Given the description of an element on the screen output the (x, y) to click on. 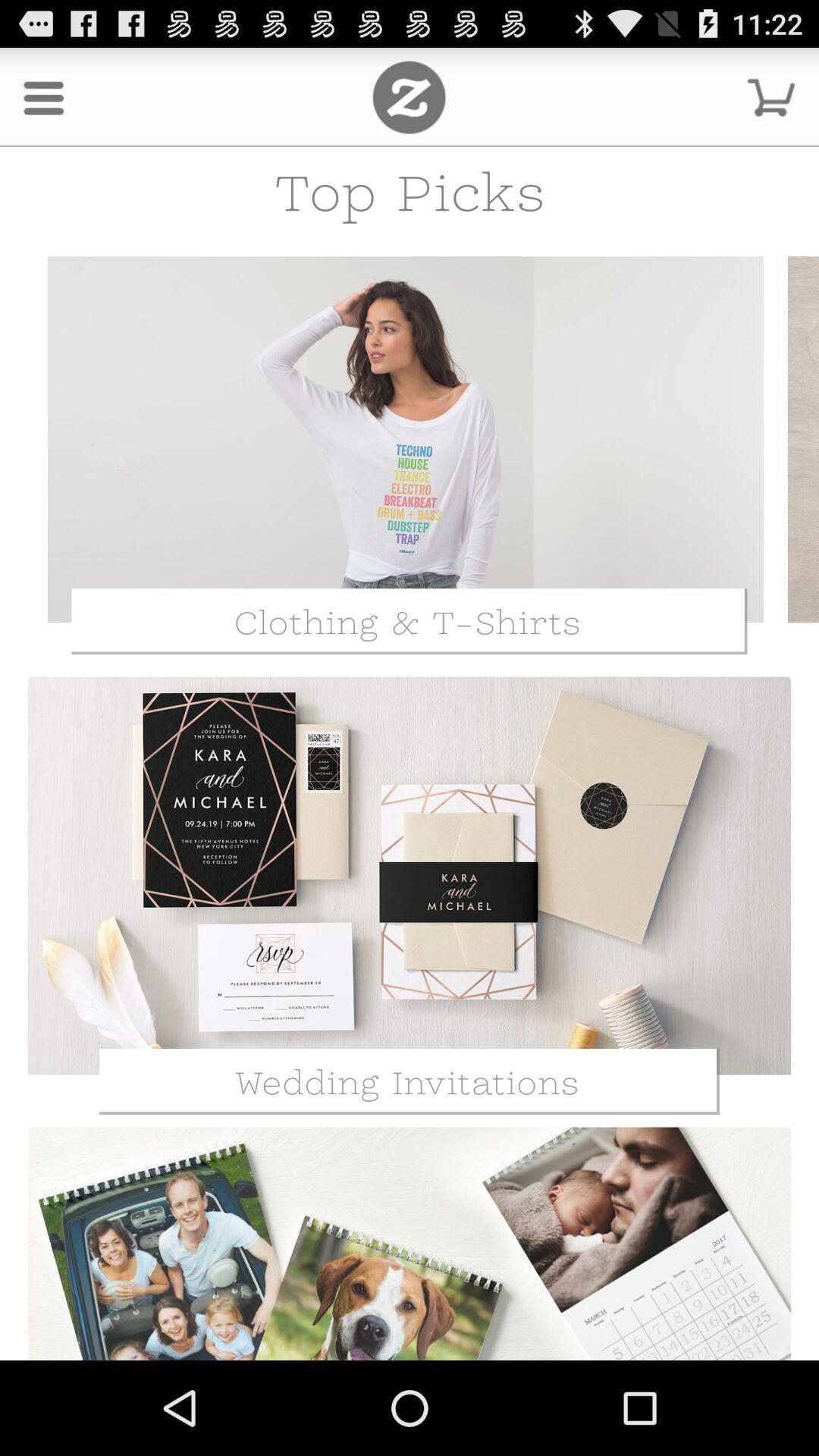
go to the clothing and t-shirts page (405, 439)
